Given the description of an element on the screen output the (x, y) to click on. 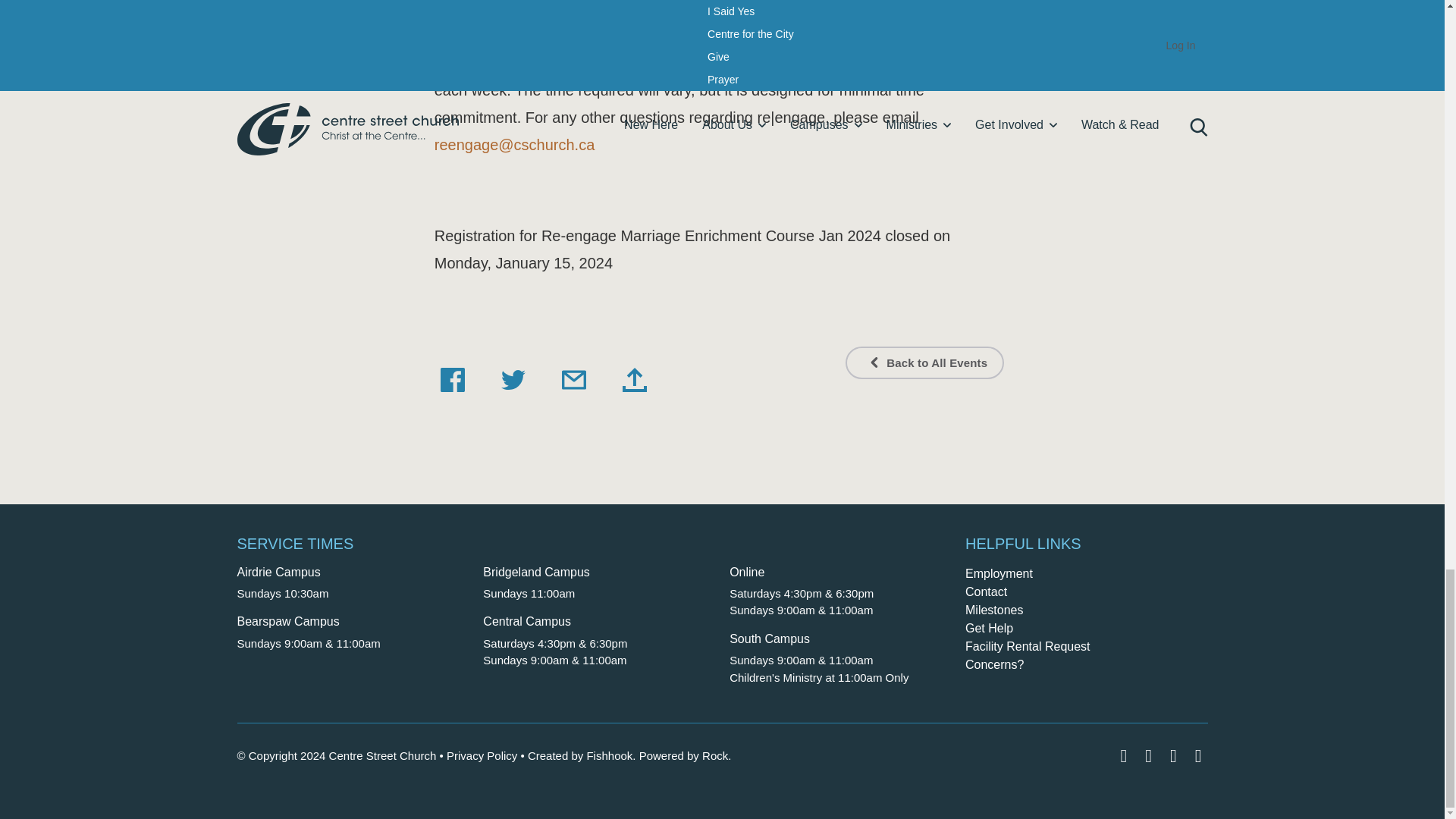
Share (633, 379)
